Given the description of an element on the screen output the (x, y) to click on. 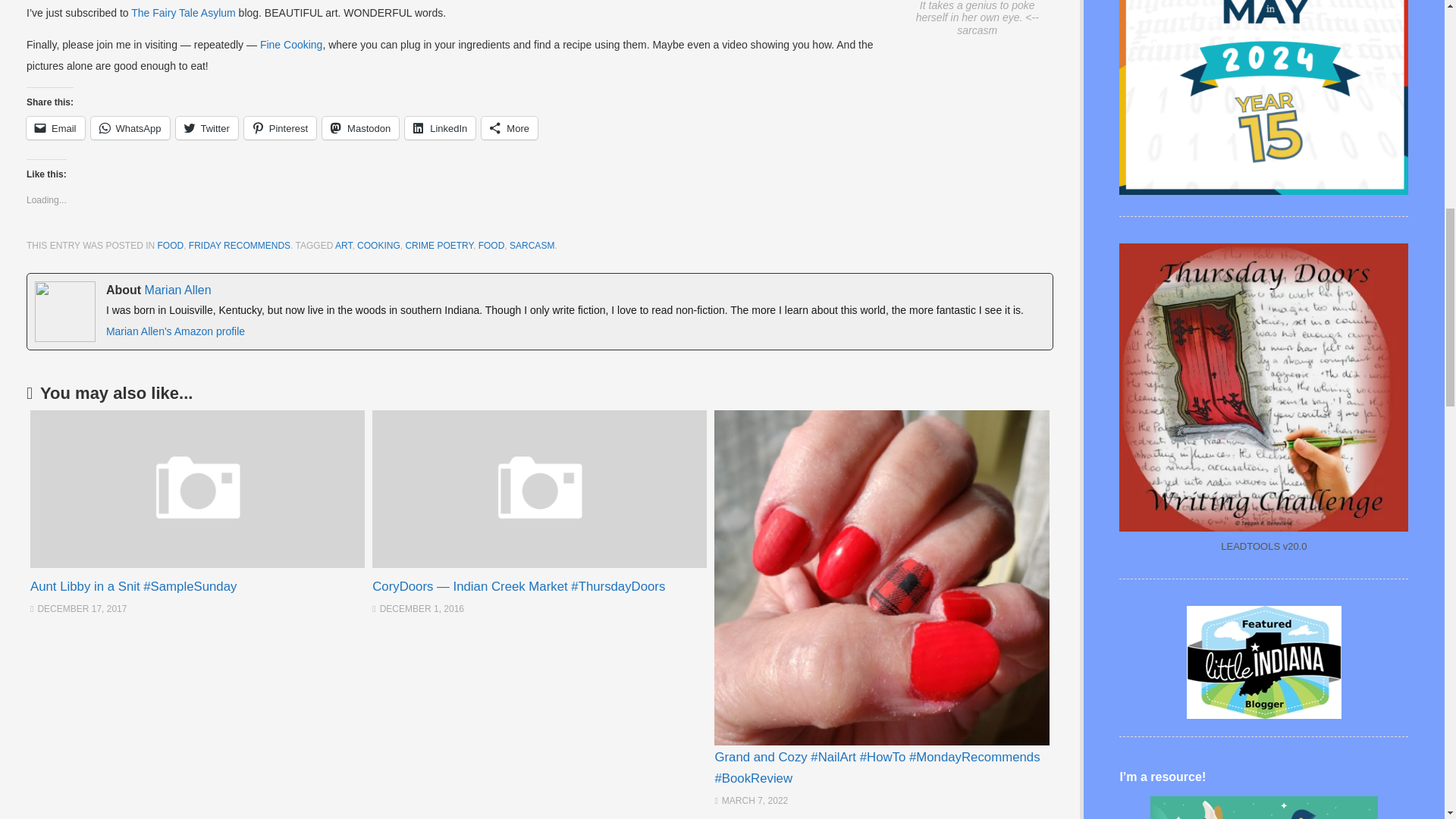
Click to share on Twitter (207, 128)
Click to email a link to a friend (55, 128)
Click to share on WhatsApp (130, 128)
